Given the description of an element on the screen output the (x, y) to click on. 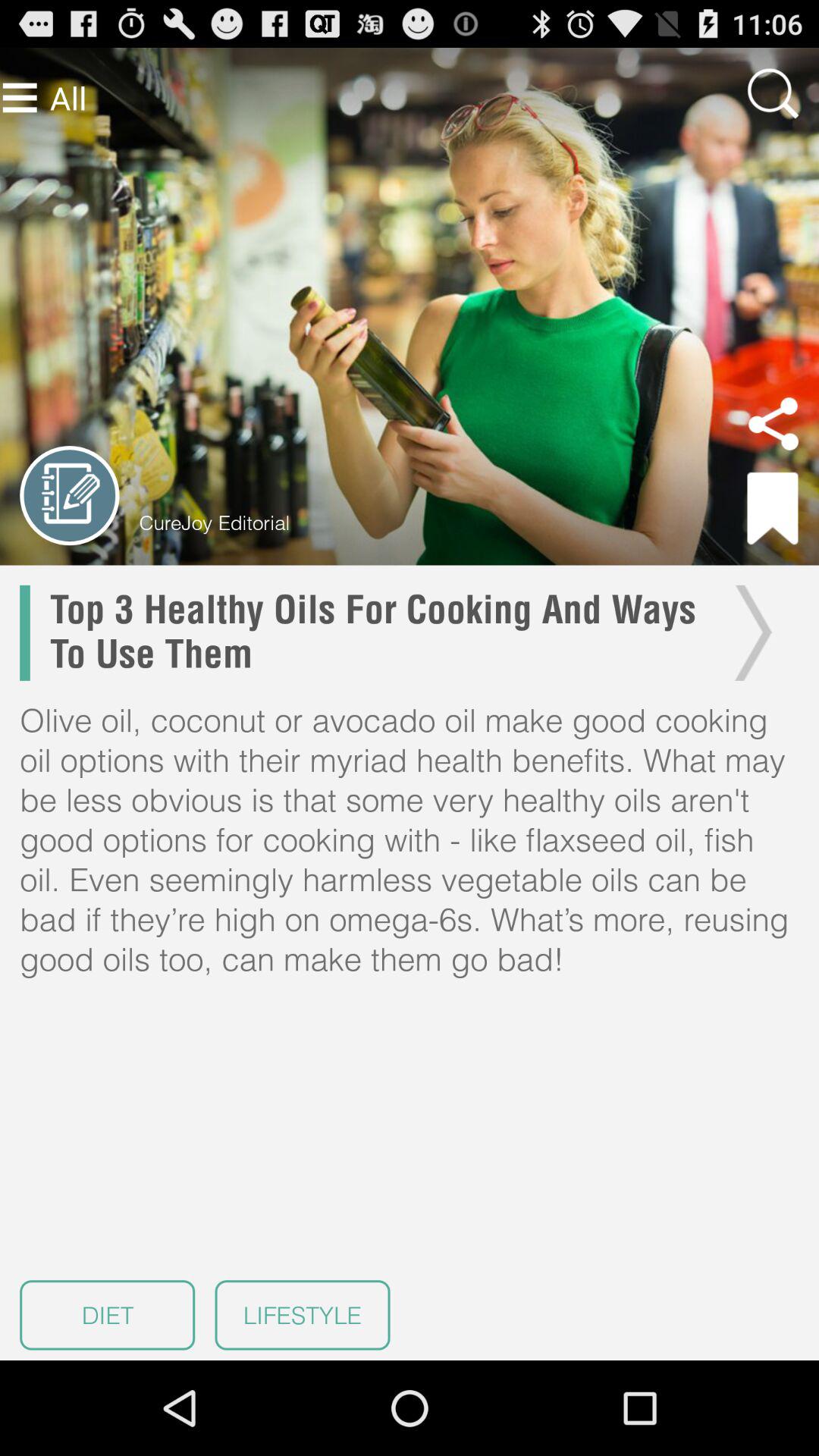
click zoom option (773, 93)
